Given the description of an element on the screen output the (x, y) to click on. 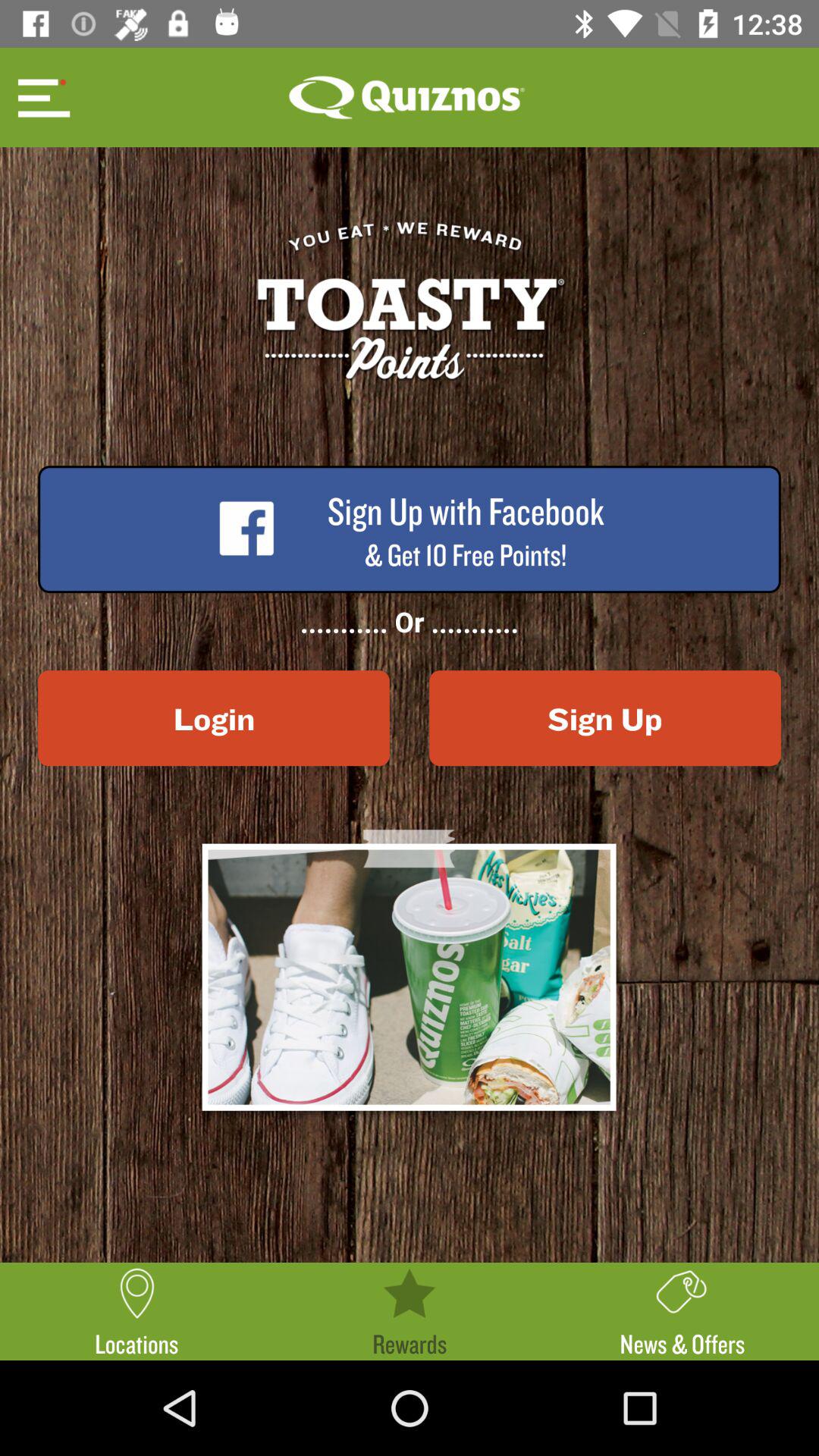
tap item to the left of the sign up icon (213, 718)
